Given the description of an element on the screen output the (x, y) to click on. 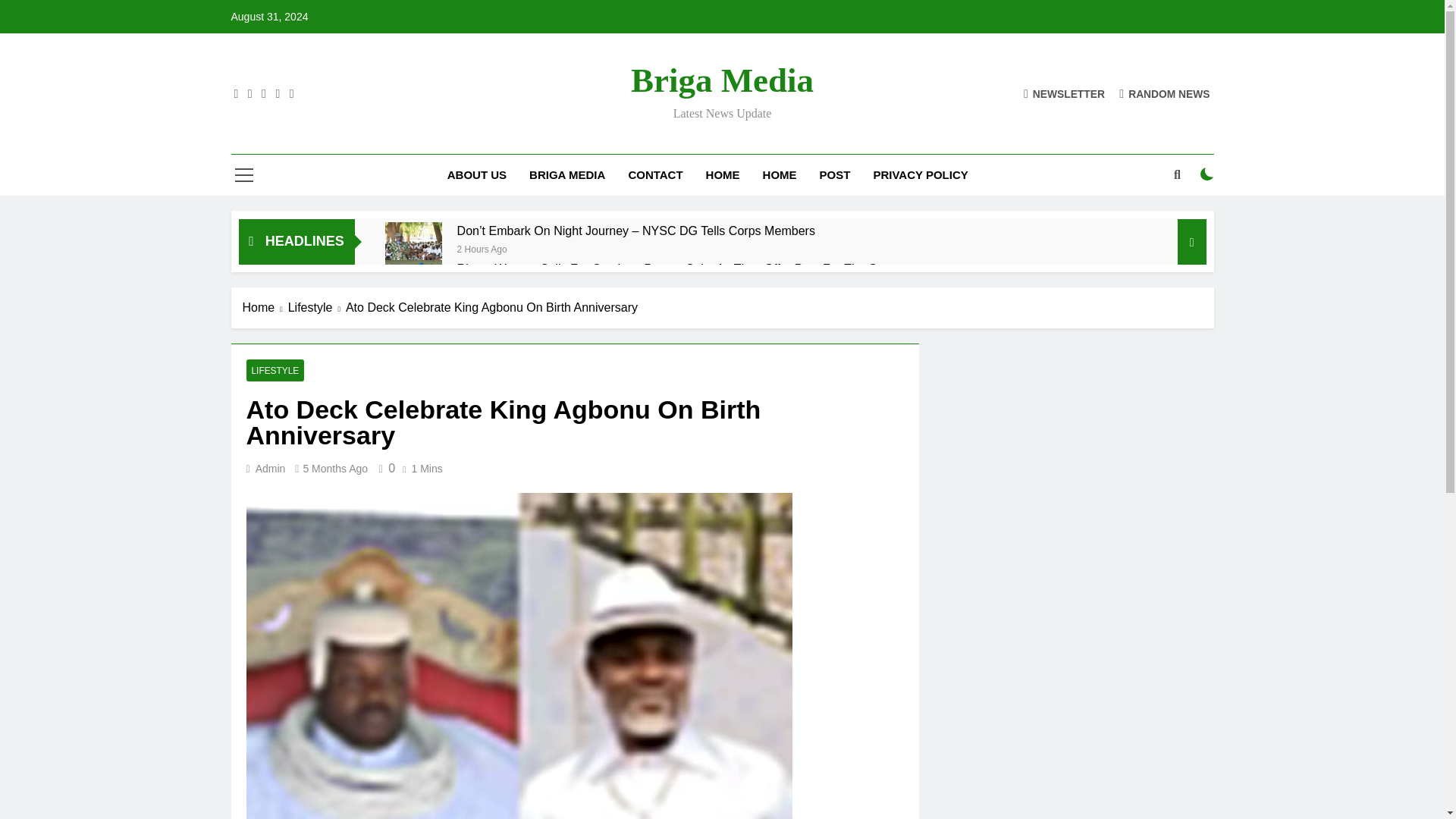
PRIVACY POLICY (919, 174)
NEWSLETTER (1064, 92)
BRIGA MEDIA (566, 174)
HOME (722, 174)
ABOUT US (476, 174)
RANDOM NEWS (1164, 92)
2 Hours Ago (481, 247)
POST (834, 174)
on (1206, 173)
